Given the description of an element on the screen output the (x, y) to click on. 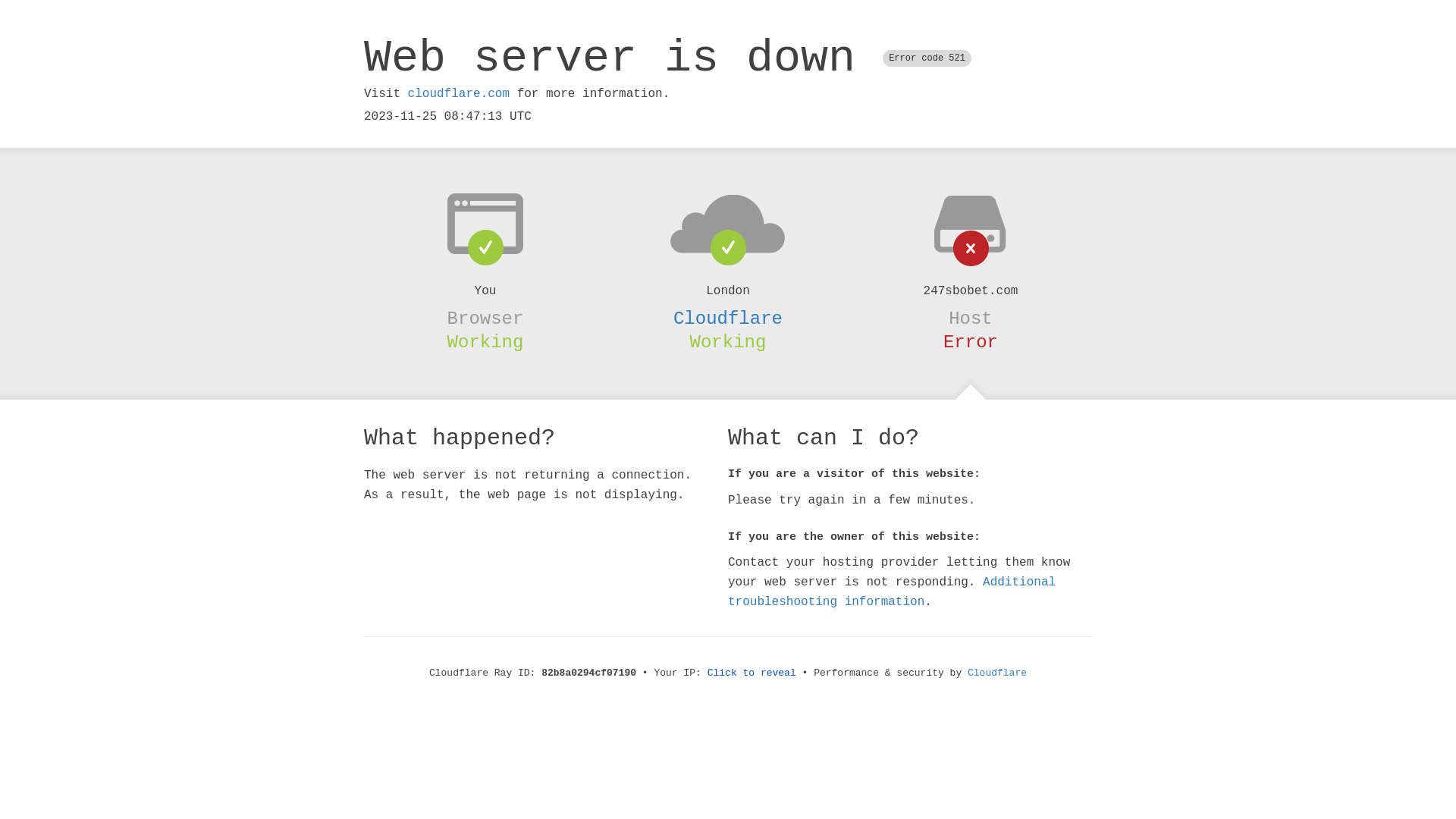
Additional troubleshooting information Element type: text (891, 591)
Cloudflare Element type: text (996, 672)
Cloudflare Element type: text (727, 318)
cloudflare.com Element type: text (458, 93)
Click to reveal Element type: text (751, 672)
